Given the description of an element on the screen output the (x, y) to click on. 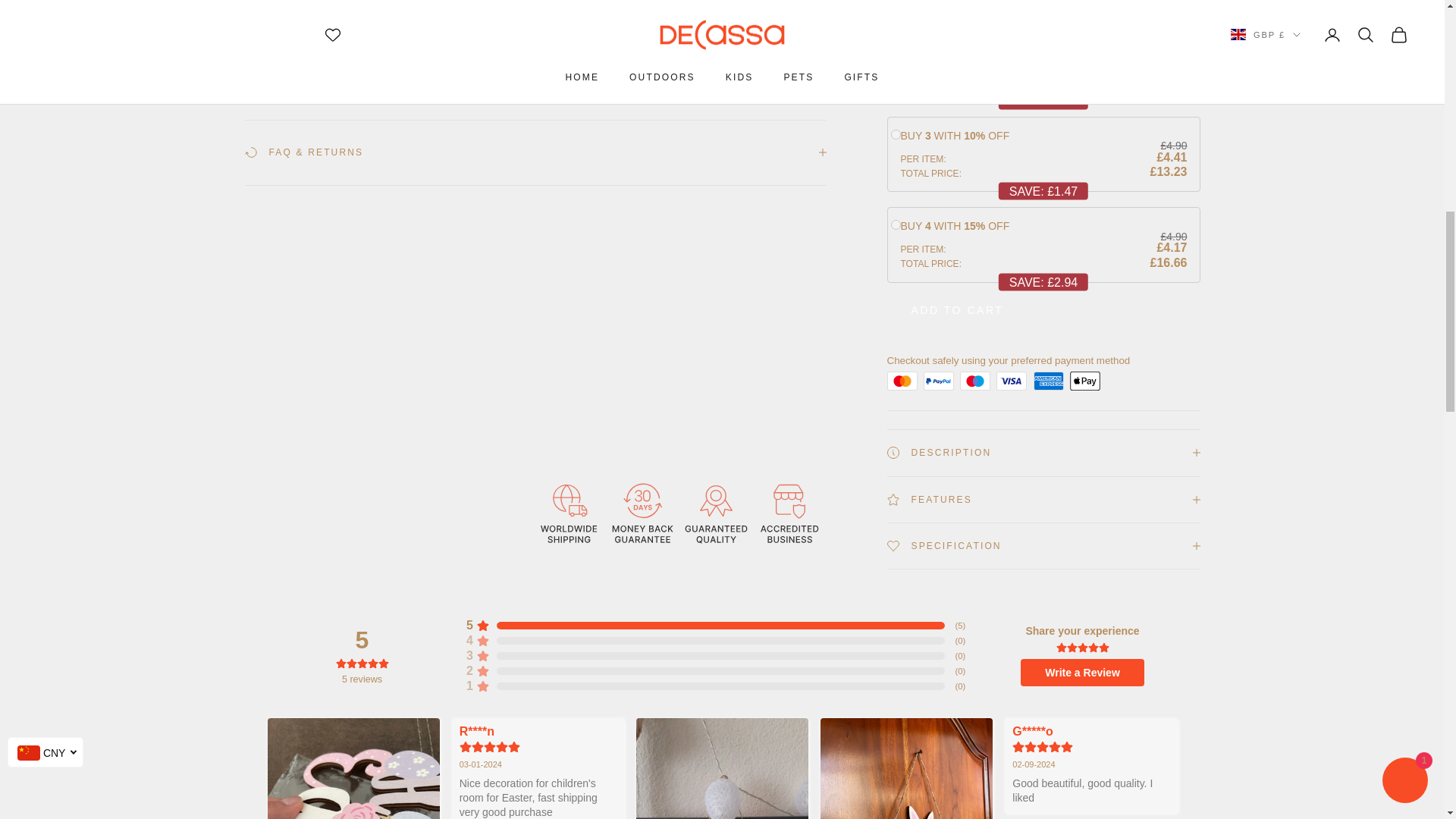
4 (894, 60)
